Given the description of an element on the screen output the (x, y) to click on. 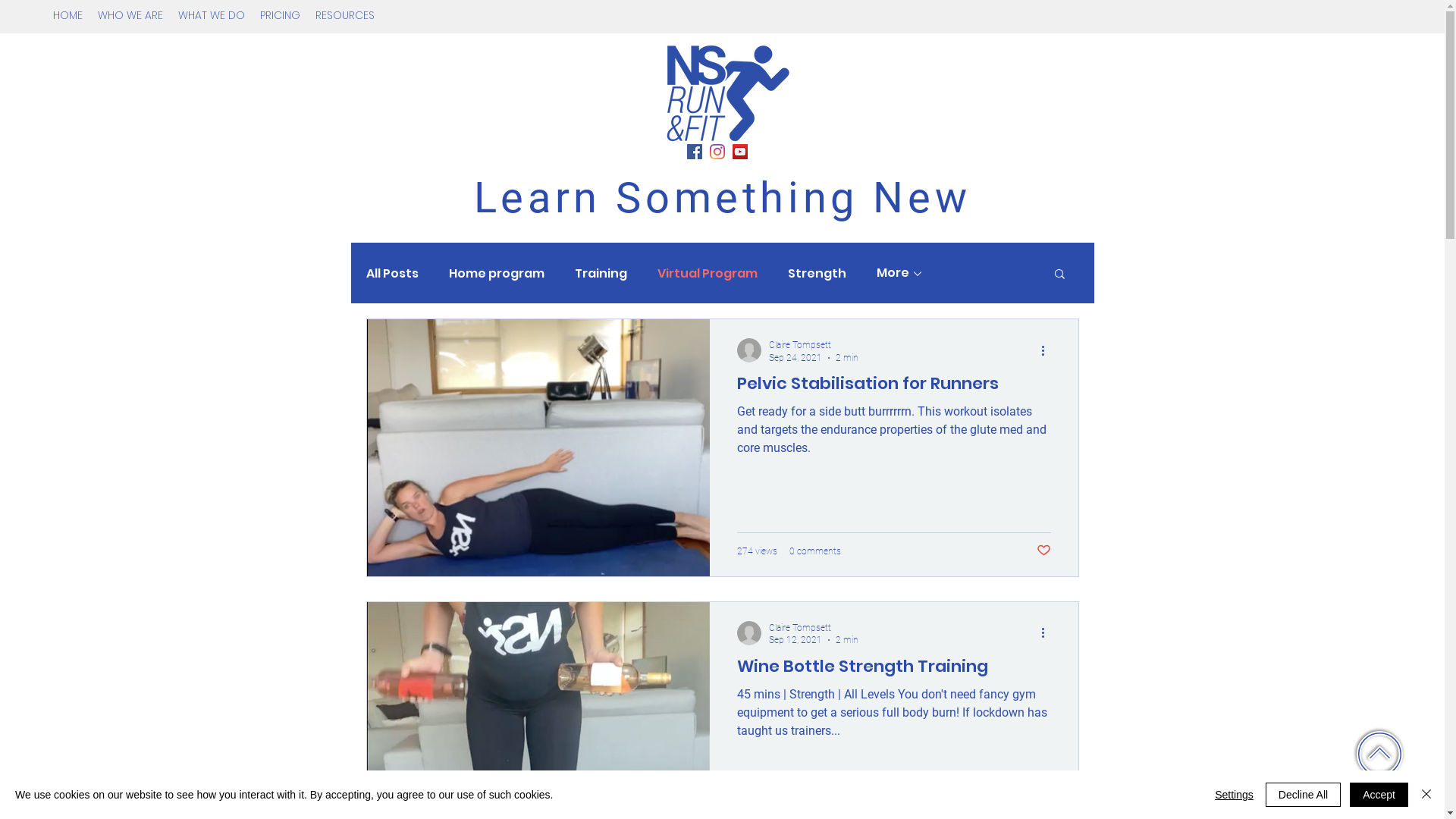
Home program Element type: text (496, 272)
Training Element type: text (600, 272)
Claire Tompsett Element type: text (813, 627)
Strength Element type: text (816, 272)
WHO WE ARE Element type: text (130, 14)
Virtual Program Element type: text (706, 272)
Decline All Element type: text (1302, 794)
PRICING Element type: text (279, 14)
RESOURCES Element type: text (344, 14)
Wine Bottle Strength Training Element type: text (894, 670)
All Posts Element type: text (391, 272)
Claire Tompsett Element type: text (813, 345)
HOME Element type: text (67, 14)
WHAT WE DO Element type: text (211, 14)
0 comments Element type: text (814, 551)
Post not marked as liked Element type: text (1042, 550)
Accept Element type: text (1378, 794)
Pelvic Stabilisation for Runners Element type: text (894, 387)
